Given the description of an element on the screen output the (x, y) to click on. 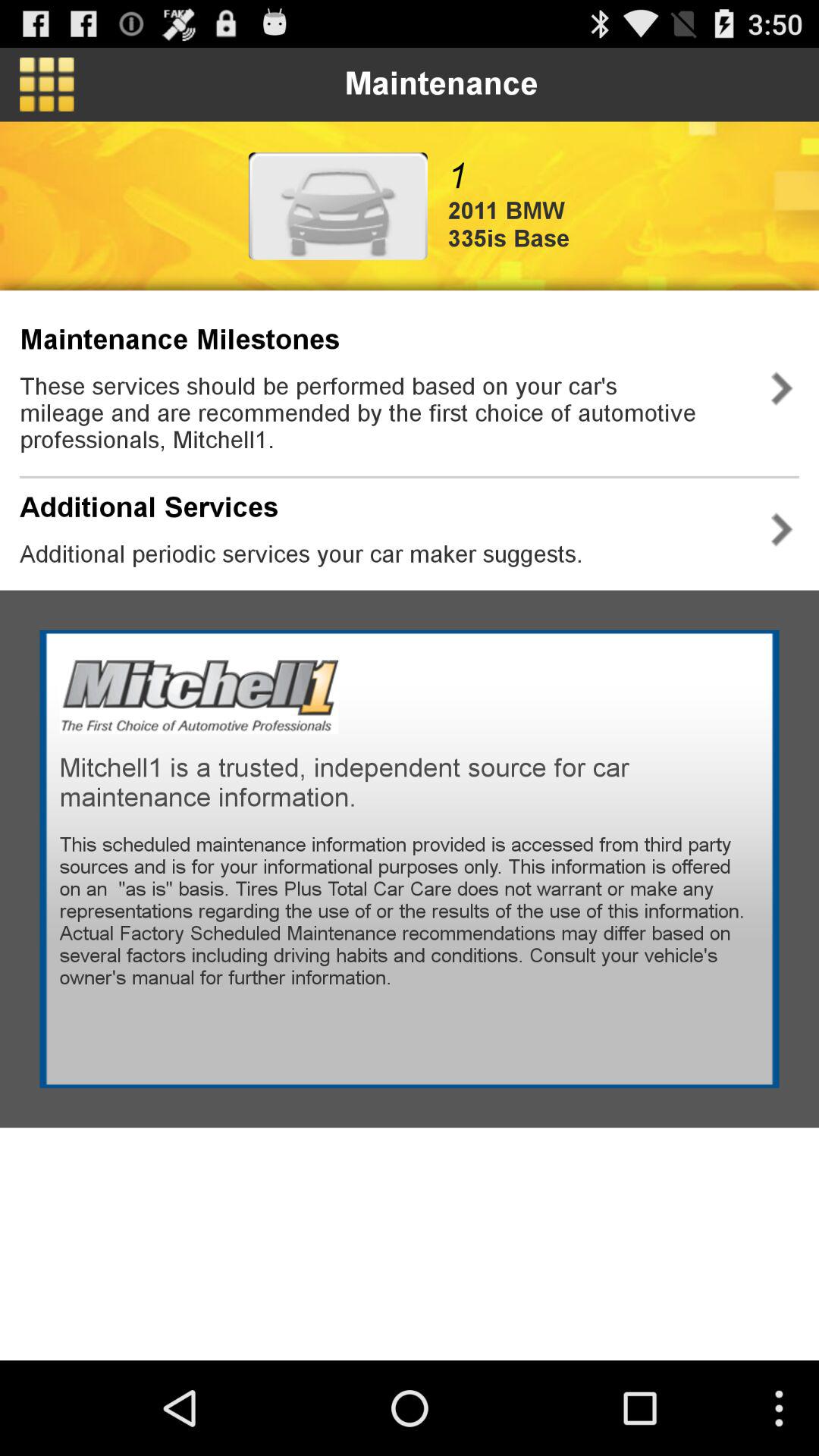
scroll until these services should (382, 413)
